Given the description of an element on the screen output the (x, y) to click on. 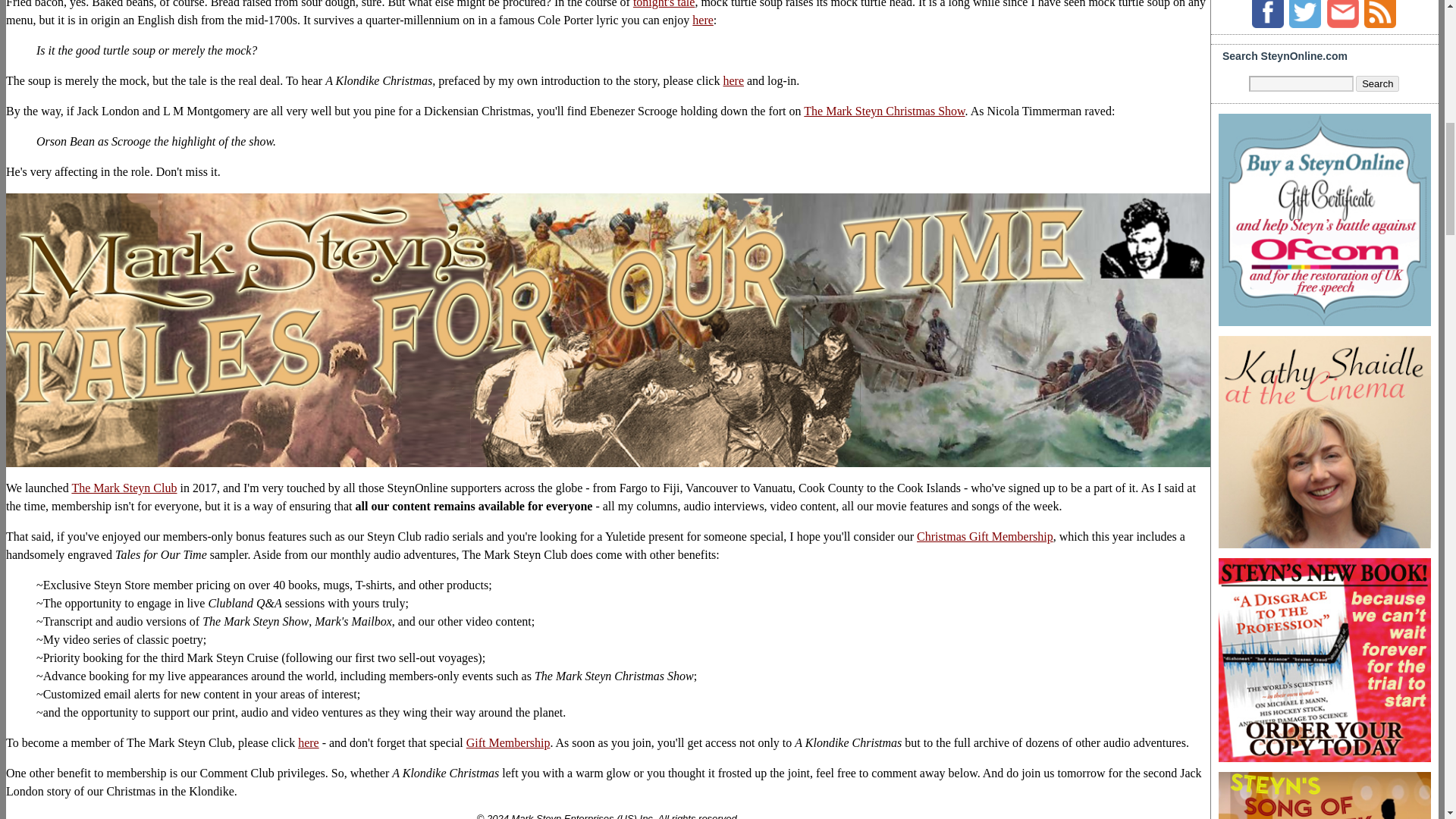
Facebook (1268, 13)
Search (1377, 83)
Join Mailing List (1342, 13)
Twitter (1304, 13)
RSS Feed (1380, 13)
